Given the description of an element on the screen output the (x, y) to click on. 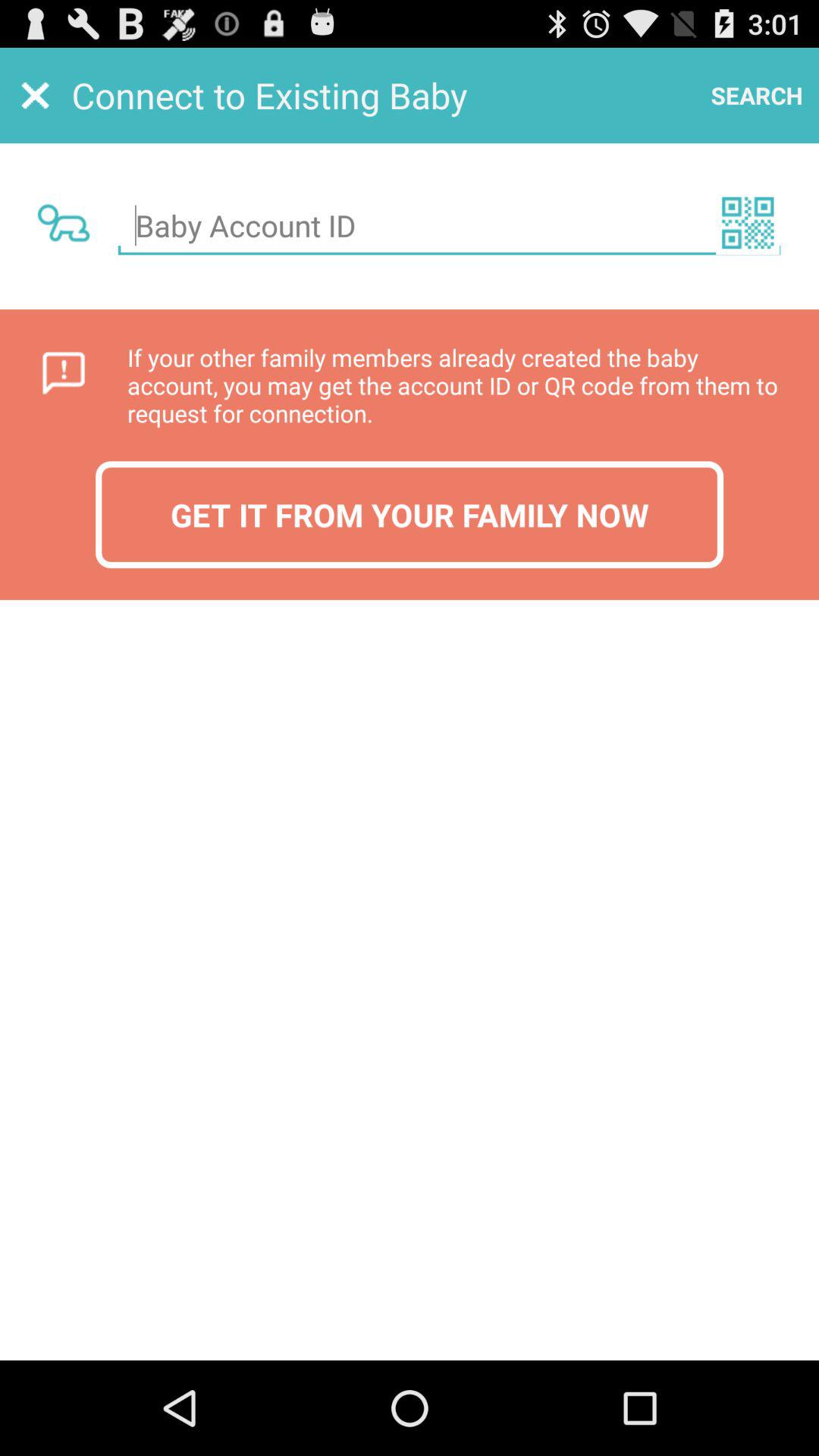
scan qr code (747, 222)
